Given the description of an element on the screen output the (x, y) to click on. 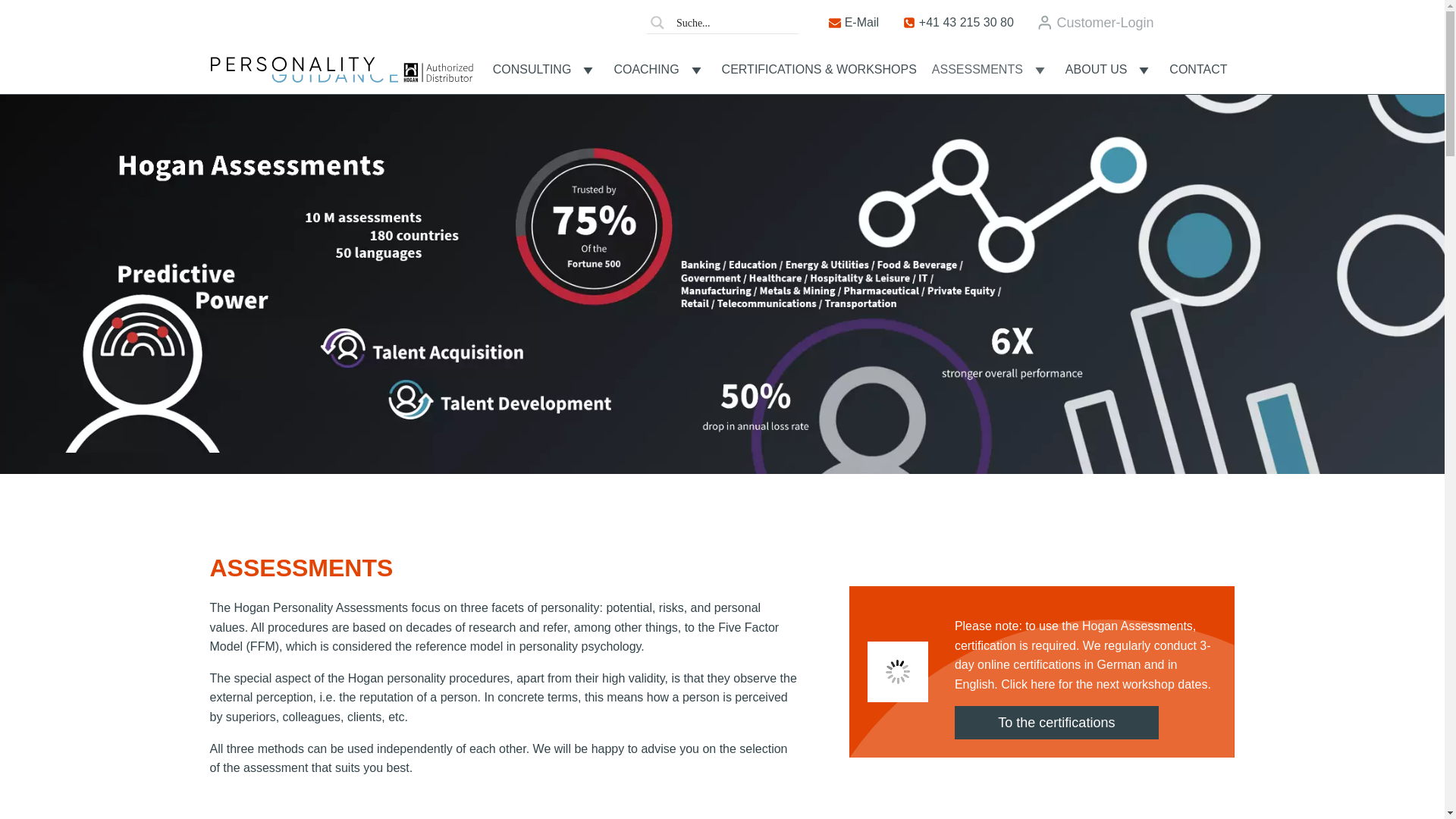
CONSULTING (545, 69)
ASSESSMENTS (991, 69)
CONTACT (1197, 69)
ABOUT US (1109, 69)
COACHING (659, 69)
E-Mail (853, 22)
Customer-Login (1095, 22)
